Given the description of an element on the screen output the (x, y) to click on. 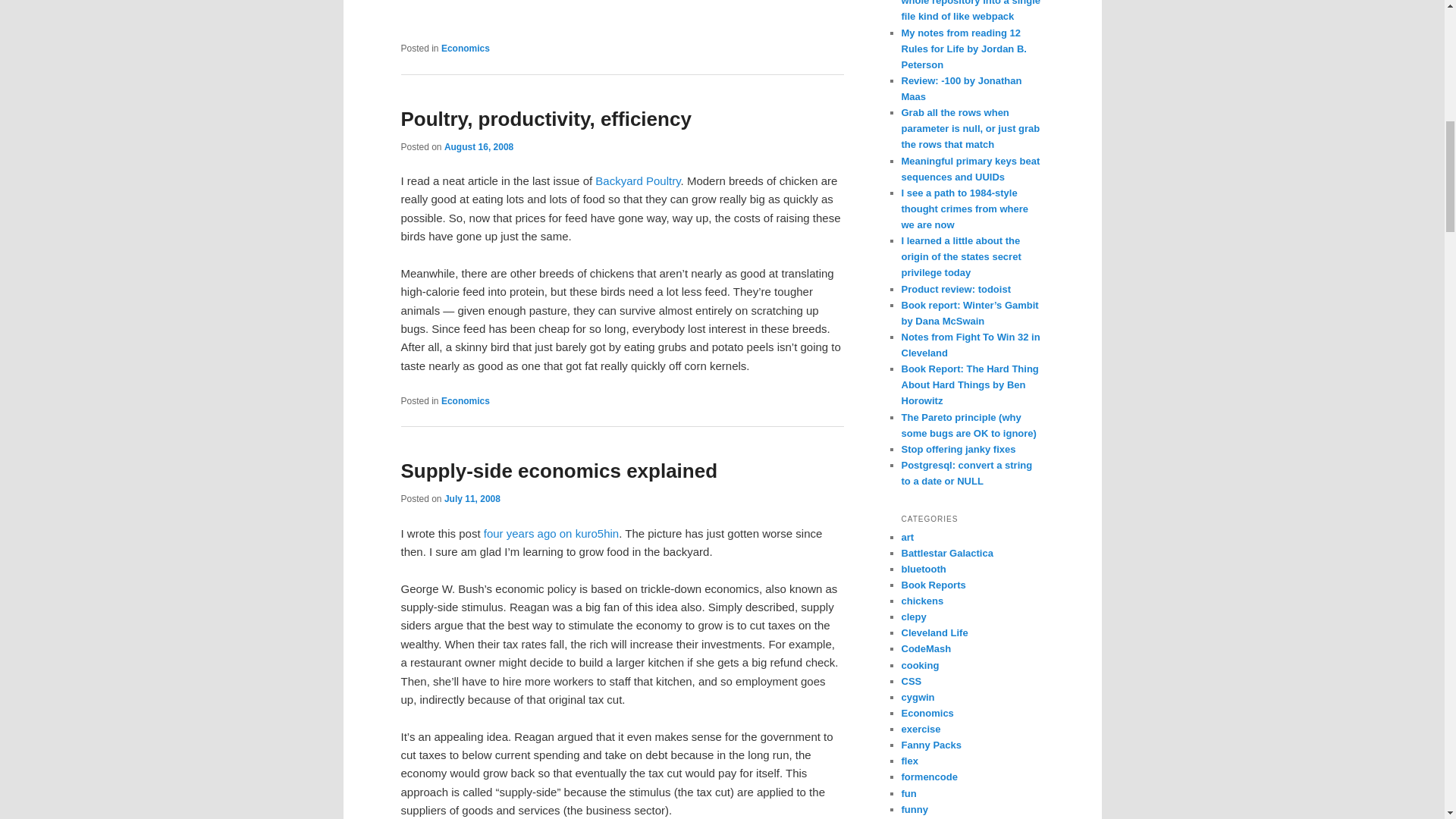
Poultry, productivity, efficiency (545, 118)
July 11, 2008 (472, 498)
Permalink to Poultry, productivity, efficiency (545, 118)
9:19 pm (478, 146)
9:44 am (472, 498)
Economics (465, 400)
Permalink to Supply-side economics explained (558, 470)
Backyard Poultry (637, 180)
four years ago on kuro5hin (550, 532)
August 16, 2008 (478, 146)
Supply-side economics explained (558, 470)
Economics (465, 48)
